Given the description of an element on the screen output the (x, y) to click on. 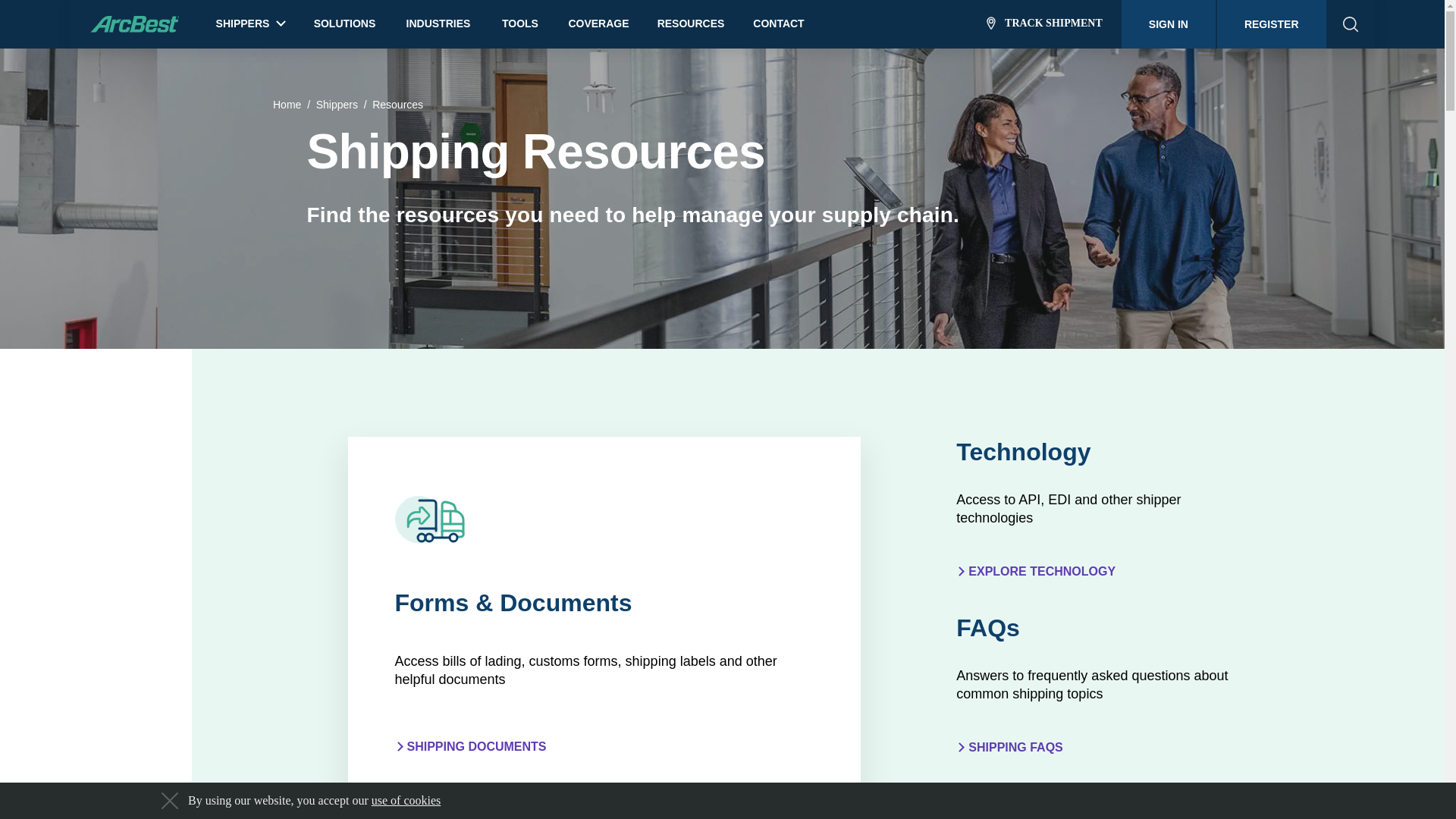
INDUSTRIES (438, 24)
COVERAGE (597, 24)
SIGN IN (1168, 24)
CONTACT (777, 24)
SHIPPERS (250, 20)
REGISTER (1271, 24)
SOLUTIONS (344, 24)
TRACK SHIPMENT (1044, 23)
RESOURCES (691, 24)
